Given the description of an element on the screen output the (x, y) to click on. 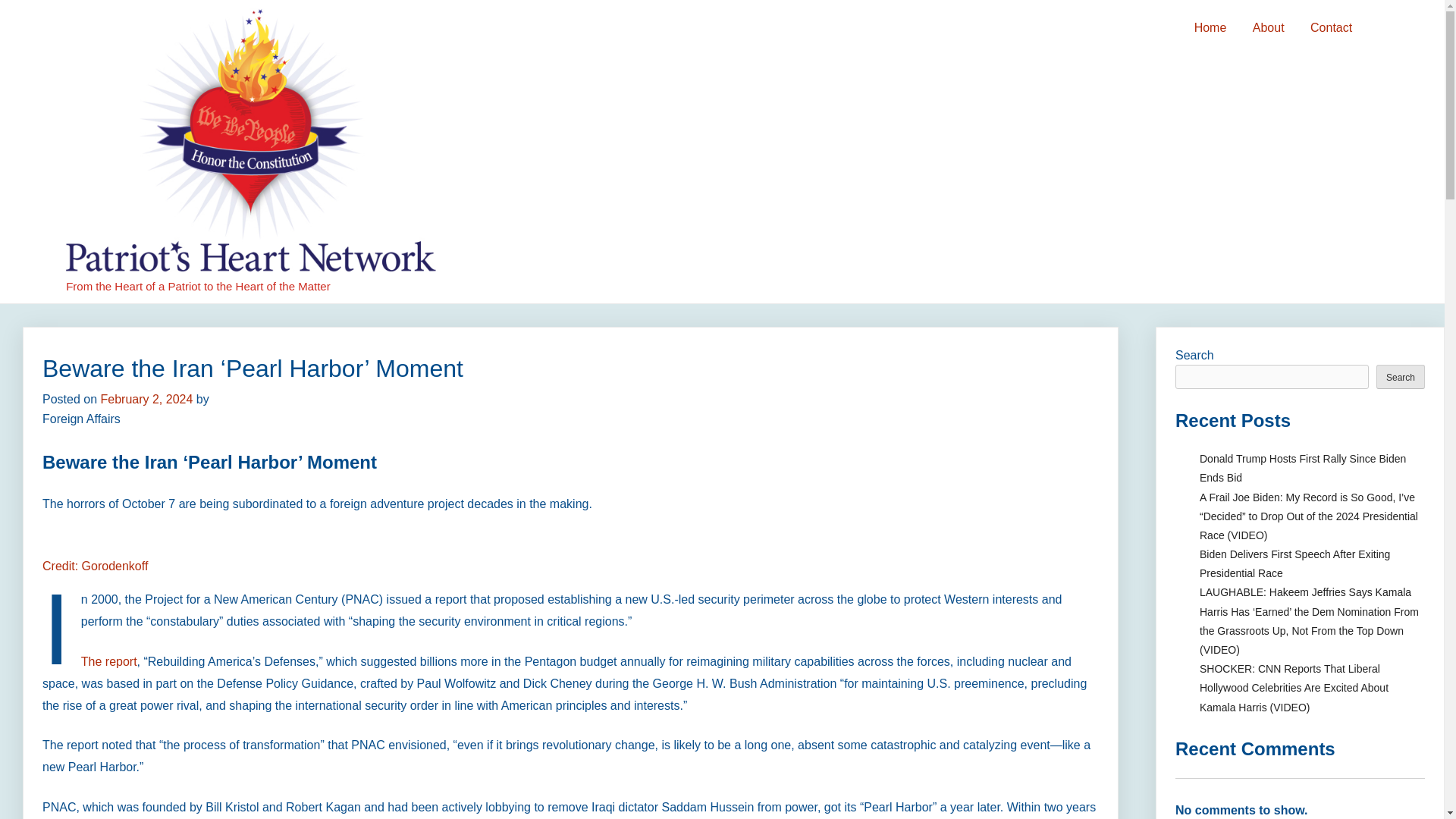
February 2, 2024 (146, 399)
Credit: Gorodenkoff (95, 576)
Contact (1330, 28)
The report (108, 661)
About (1268, 28)
Home (1210, 28)
